Given the description of an element on the screen output the (x, y) to click on. 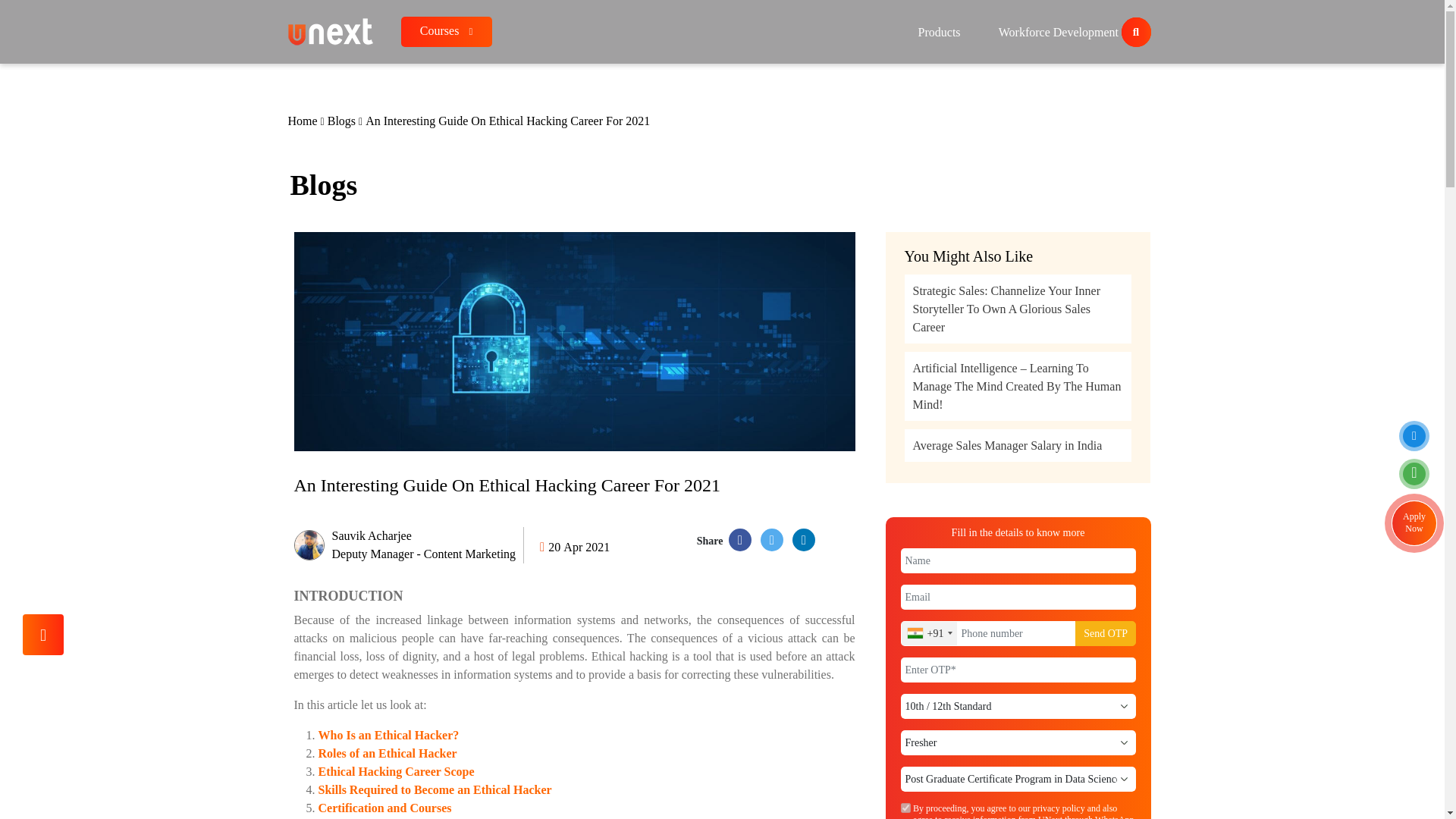
Go to top (43, 634)
Certification and Courses (384, 807)
Skills Required to Become an Ethical Hacker (434, 789)
Blogs (342, 120)
Ethical Hacking Career Scope (396, 771)
Home (304, 120)
Products (939, 32)
Whatsapp (409, 545)
Who Is an Ethical Hacker? (1414, 473)
1 (389, 735)
Courses (906, 808)
Roles of an Ethical Hacker (446, 31)
Workforce Development (387, 753)
